Given the description of an element on the screen output the (x, y) to click on. 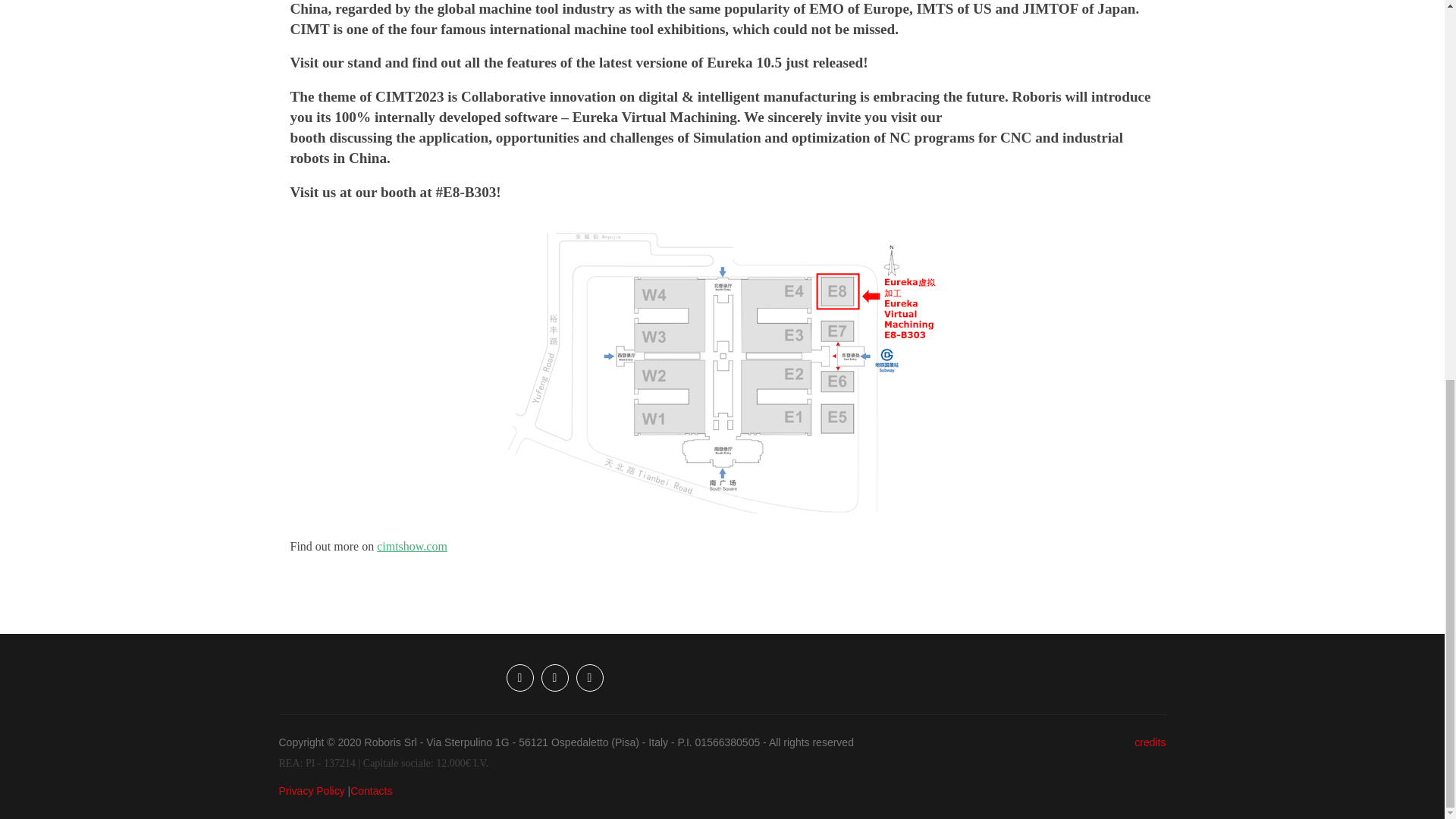
credits (1150, 742)
cimtshow.com (411, 545)
Contacts (370, 790)
Privacy Policy (312, 790)
